Given the description of an element on the screen output the (x, y) to click on. 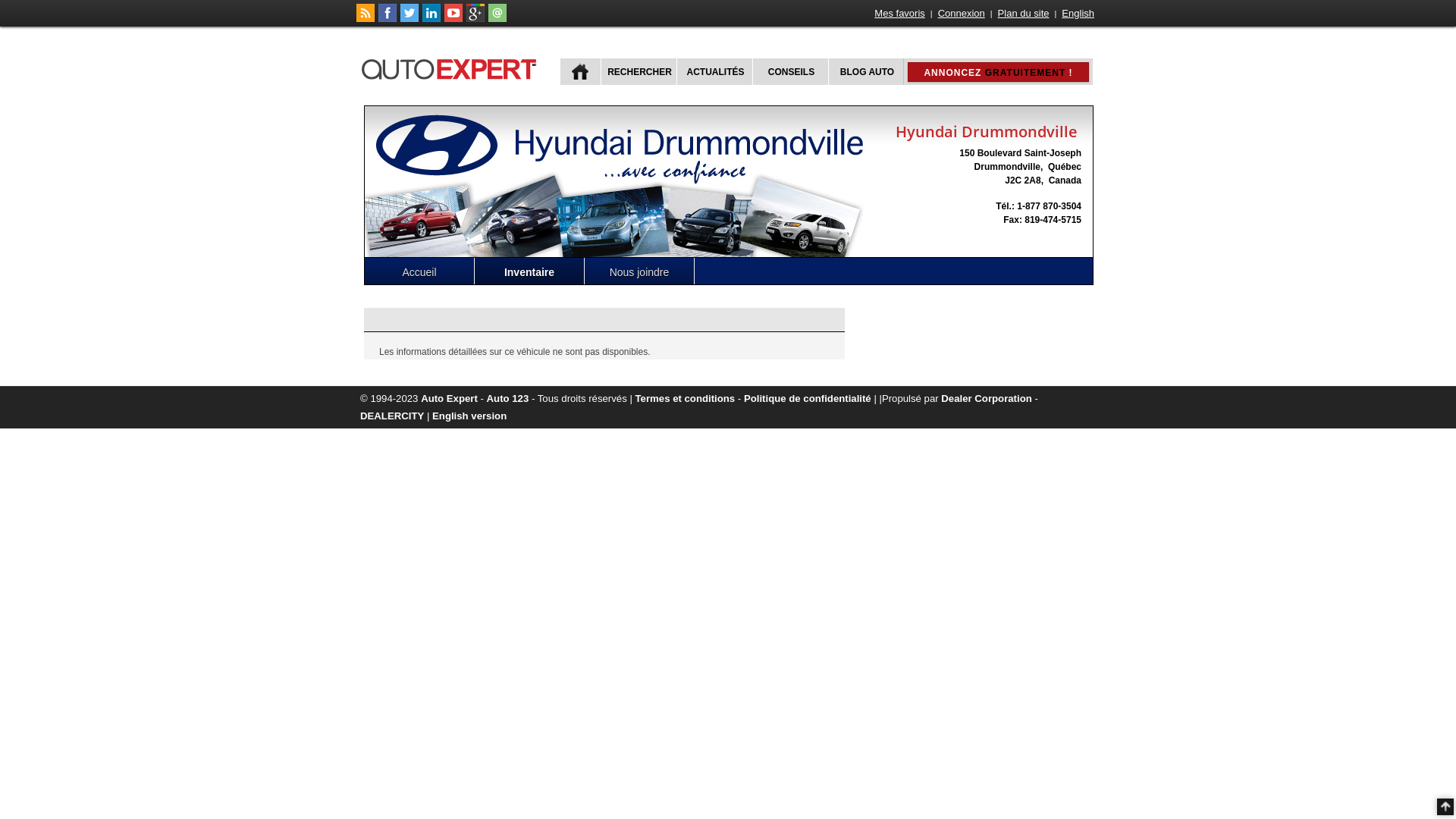
Suivez autoExpert.ca sur Facebook Element type: hover (387, 18)
Connexion Element type: text (961, 13)
Termes et conditions Element type: text (685, 398)
Accueil Element type: text (419, 270)
Nous joindre Element type: text (639, 270)
Mes favoris Element type: text (898, 13)
Suivez Publications Le Guide Inc. sur LinkedIn Element type: hover (431, 18)
English version Element type: text (469, 415)
Suivez autoExpert.ca sur Google Plus Element type: hover (475, 18)
ACCUEIL Element type: text (580, 71)
BLOG AUTO Element type: text (865, 71)
Auto Expert Element type: text (448, 398)
Auto 123 Element type: text (507, 398)
CONSEILS Element type: text (789, 71)
Dealer Corporation Element type: text (986, 398)
ANNONCEZ GRATUITEMENT ! Element type: text (997, 71)
Inventaire Element type: text (529, 270)
English Element type: text (1077, 13)
Suivez autoExpert.ca sur Twitter Element type: hover (409, 18)
DEALERCITY Element type: text (391, 415)
Suivez autoExpert.ca sur Youtube Element type: hover (453, 18)
Plan du site Element type: text (1023, 13)
RECHERCHER Element type: text (637, 71)
Joindre autoExpert.ca Element type: hover (497, 18)
autoExpert.ca Element type: text (451, 66)
